Given the description of an element on the screen output the (x, y) to click on. 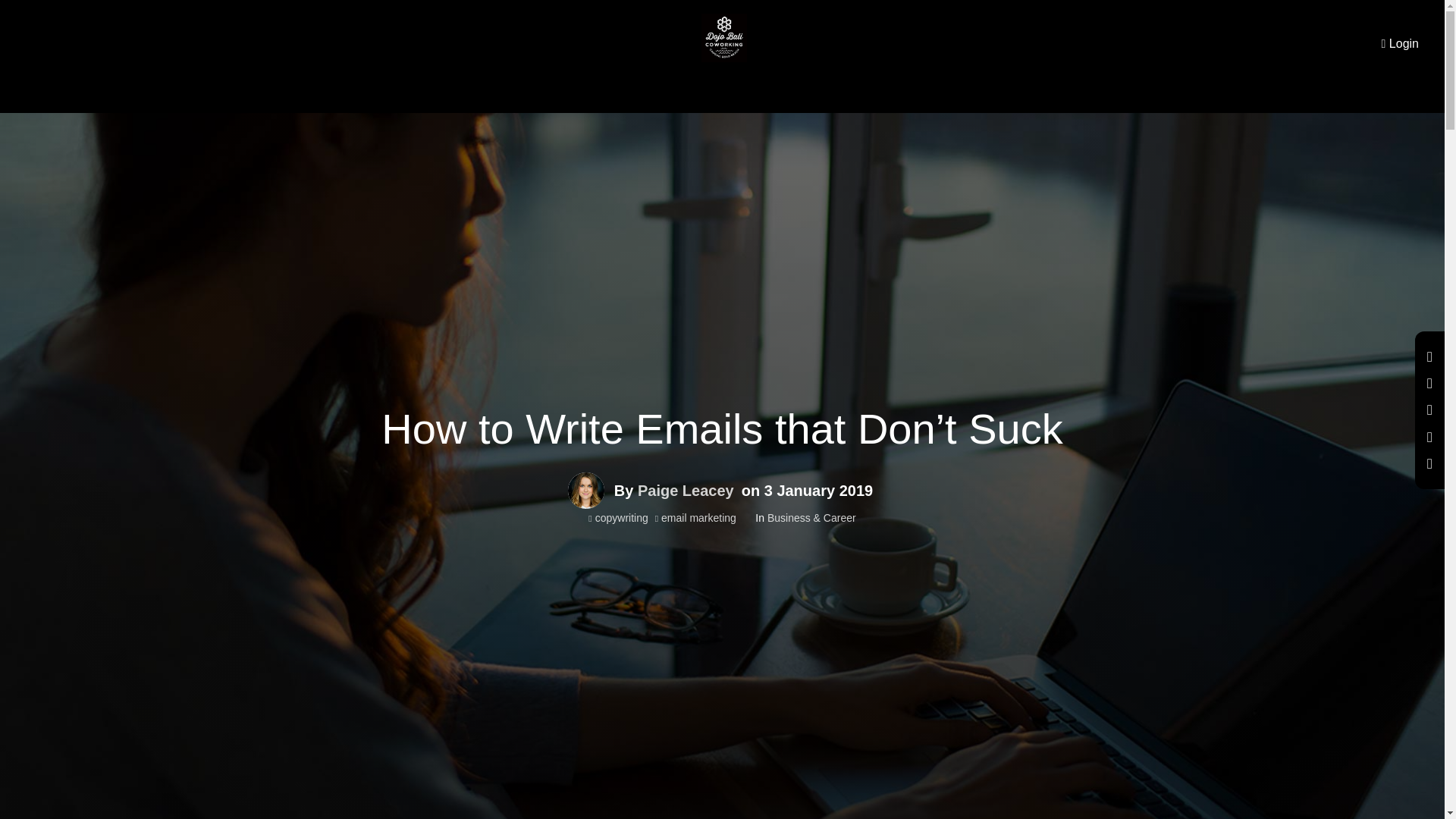
copywriting (617, 517)
Paige Leacey (585, 490)
Paige Leacey (685, 490)
Community (639, 95)
Login (1400, 43)
Coliving (703, 95)
email marketing (695, 517)
About (578, 95)
email marketing (695, 517)
Social Impact (775, 95)
